Given the description of an element on the screen output the (x, y) to click on. 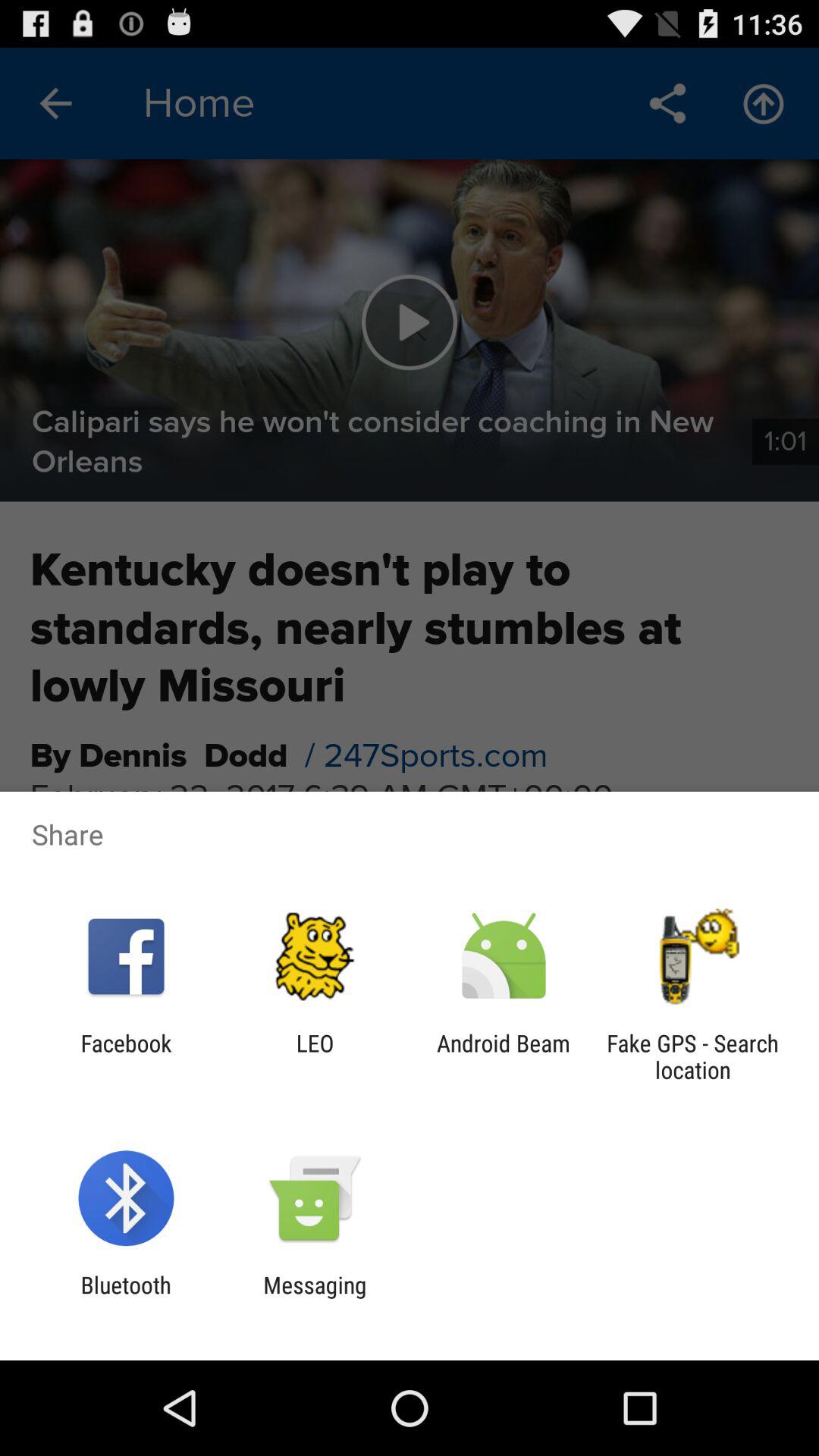
turn off the app next to fake gps search item (503, 1056)
